Given the description of an element on the screen output the (x, y) to click on. 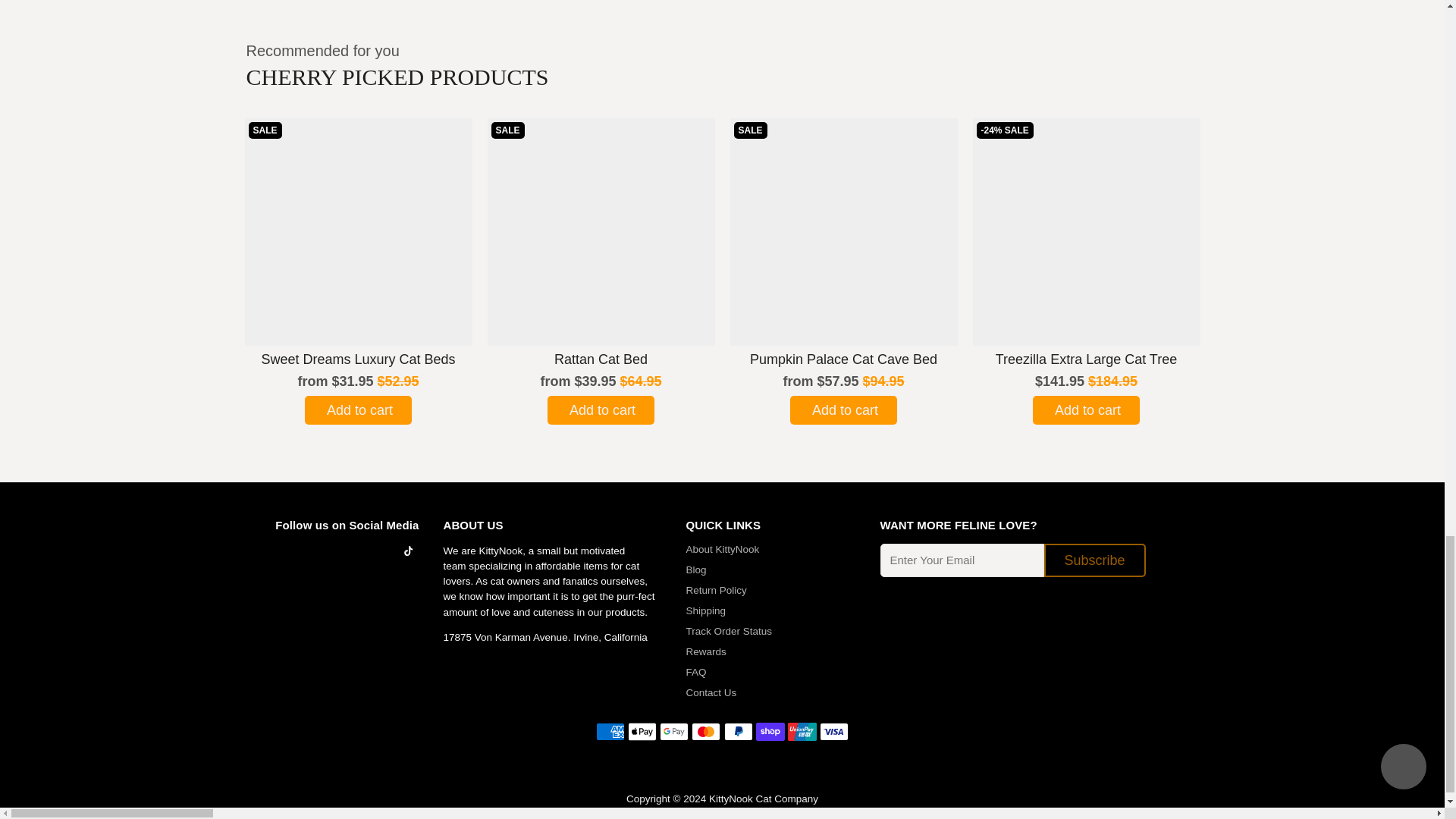
Shop Pay (769, 731)
PayPal (737, 731)
Google Pay (673, 731)
Mastercard (705, 731)
Apple Pay (641, 731)
Visa (833, 731)
American Express (609, 731)
Union Pay (801, 731)
